Given the description of an element on the screen output the (x, y) to click on. 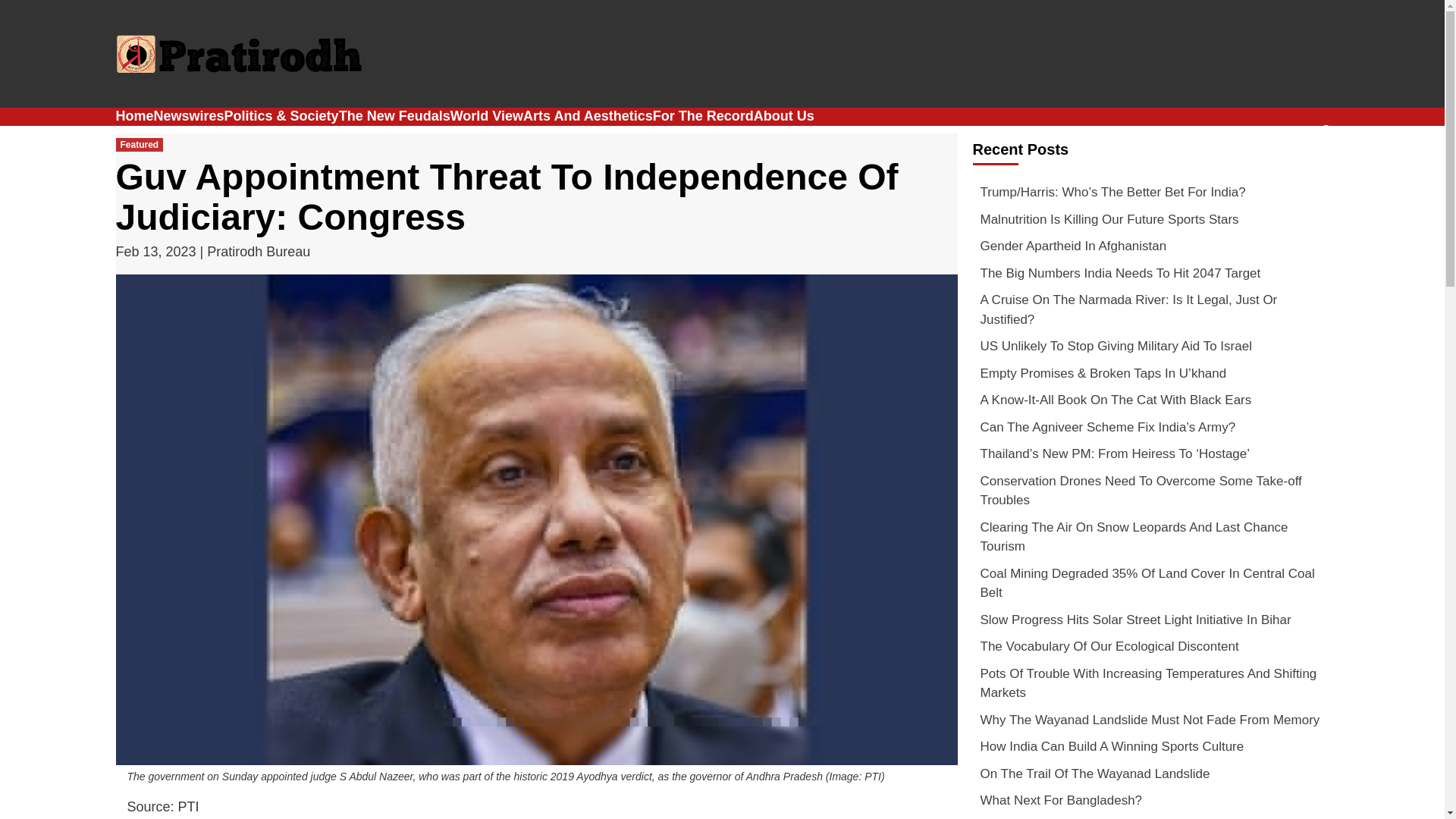
Arts And Aesthetics (587, 115)
Gender Apartheid In Afghanistan (1149, 249)
Featured (139, 144)
Home (133, 115)
US Unlikely To Stop Giving Military Aid To Israel (1149, 349)
About Us (783, 115)
The Big Numbers India Needs To Hit 2047 Target (1149, 277)
World View (485, 115)
Malnutrition Is Killing Our Future Sports Stars (1149, 222)
